Given the description of an element on the screen output the (x, y) to click on. 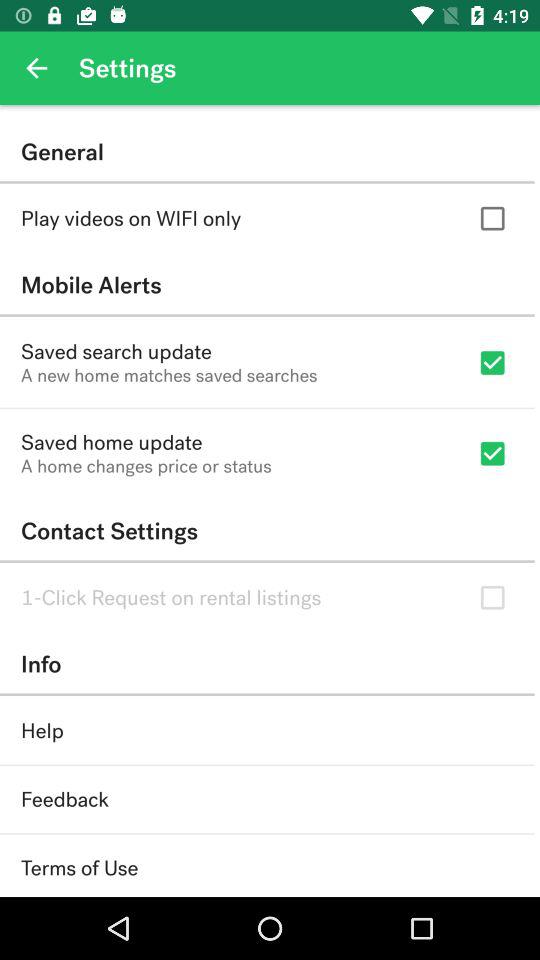
select the item below the a home changes item (267, 530)
